Given the description of an element on the screen output the (x, y) to click on. 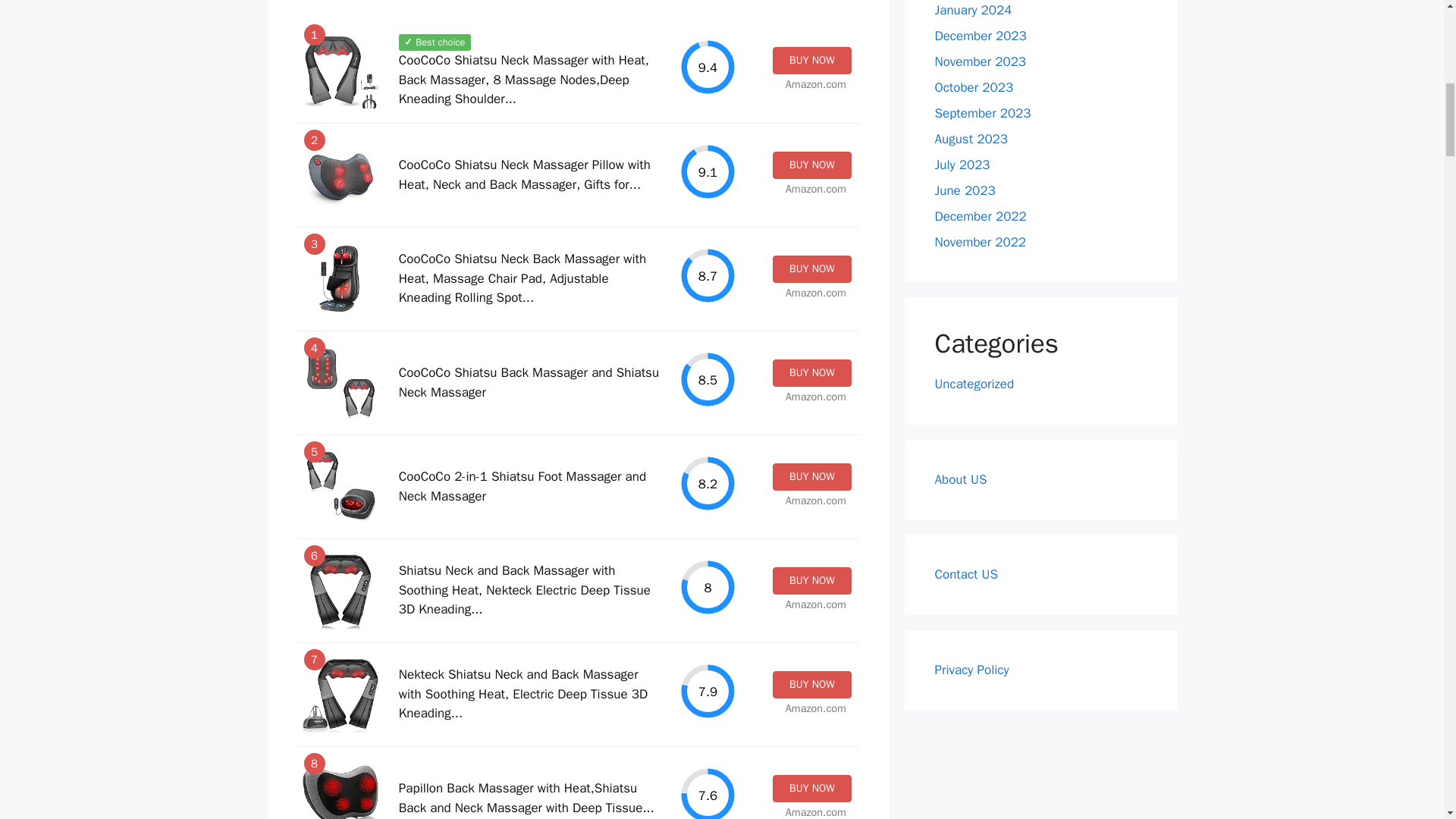
7.9 (707, 690)
8 (707, 586)
7.6 (707, 792)
Scroll back to top (1406, 720)
8.5 (707, 379)
BUY NOW (811, 476)
BUY NOW (811, 580)
BUY NOW (811, 60)
CooCoCo 2-in-1 Shiatsu Foot Massager and Neck Massager (522, 486)
9.4 (707, 66)
